Given the description of an element on the screen output the (x, y) to click on. 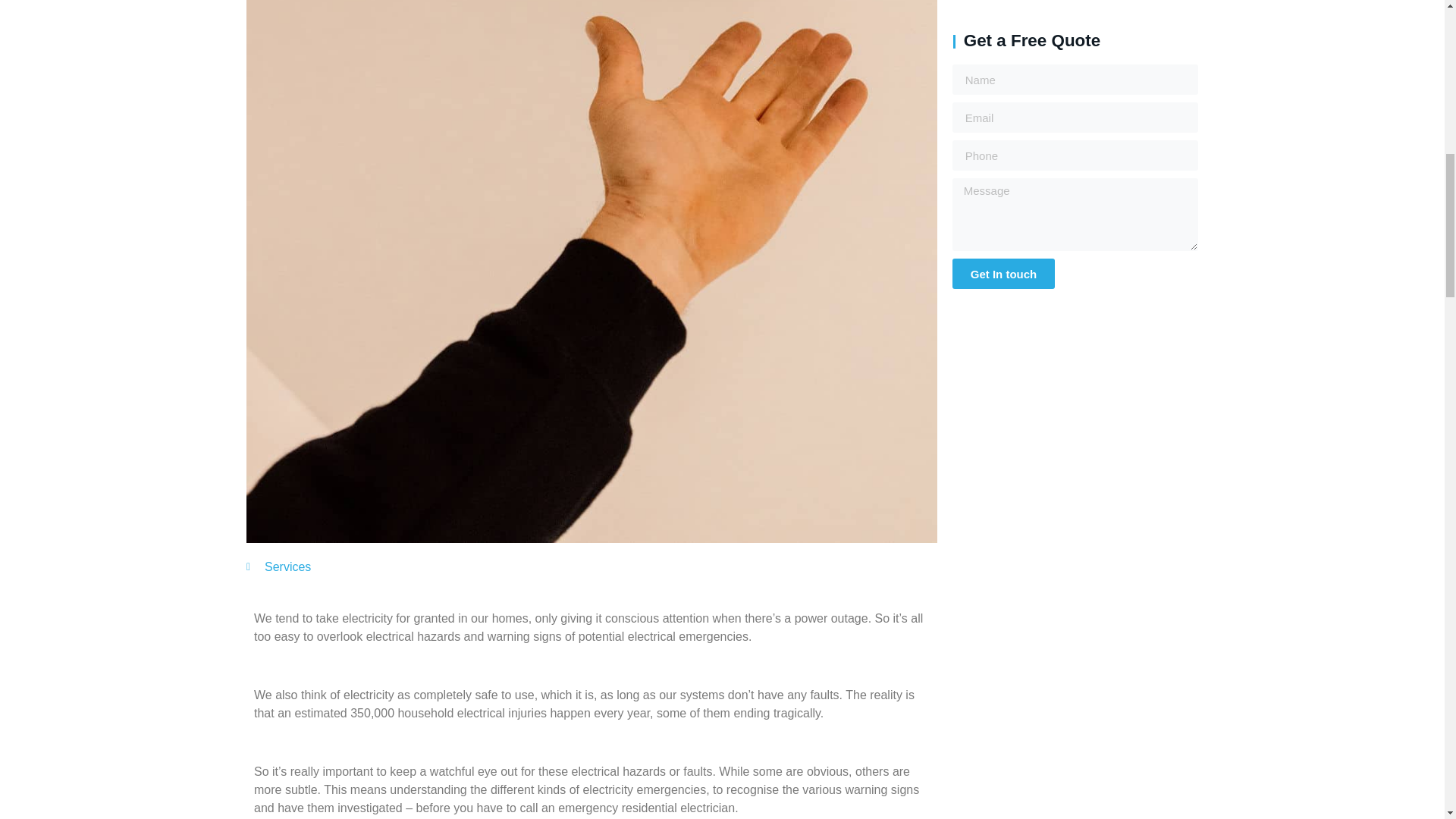
Services (287, 566)
Get In touch (1003, 273)
